Given the description of an element on the screen output the (x, y) to click on. 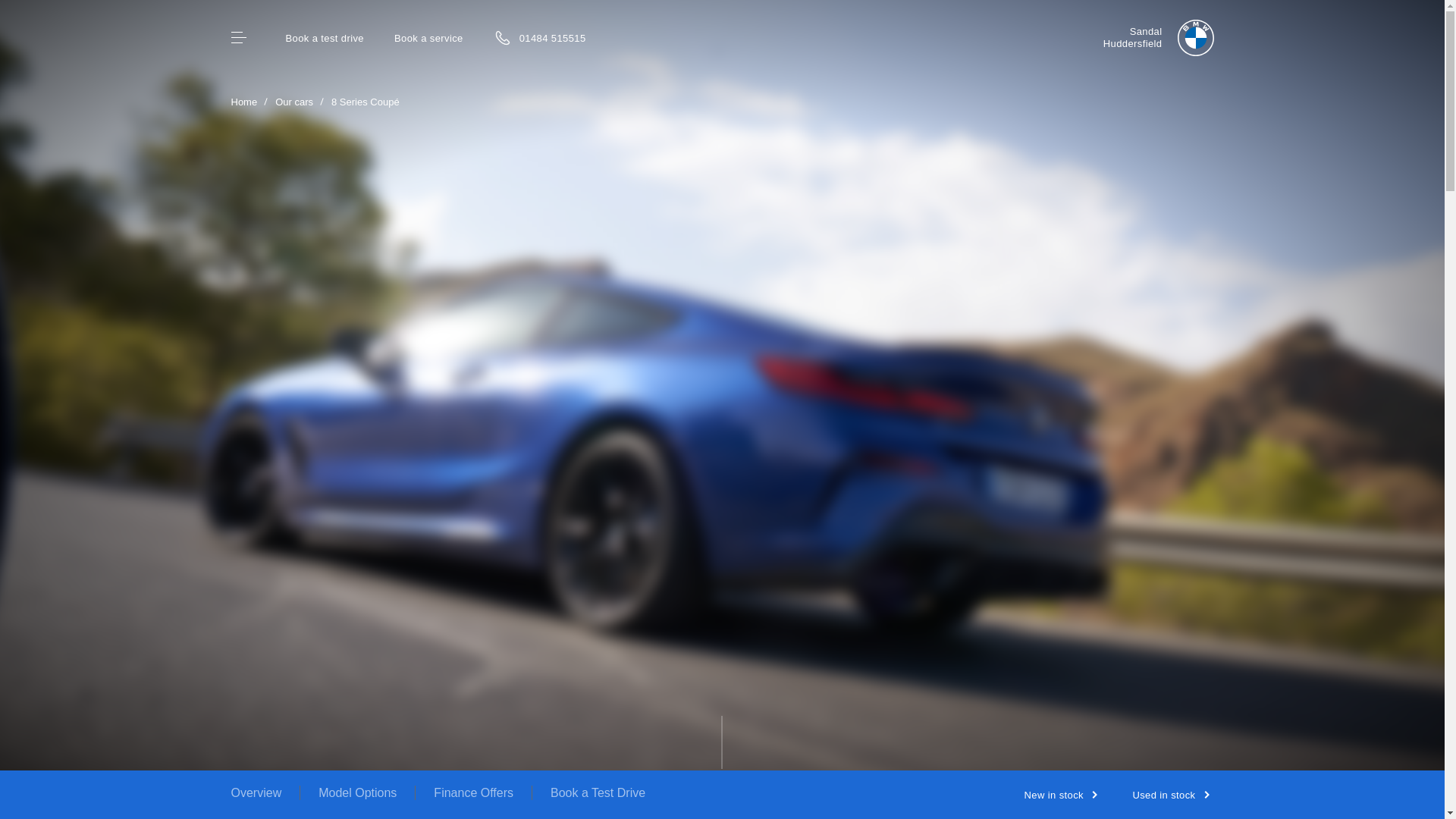
Menu control (237, 37)
01484 515515 (1158, 37)
Book a service (536, 33)
Book a test drive (428, 38)
